Given the description of an element on the screen output the (x, y) to click on. 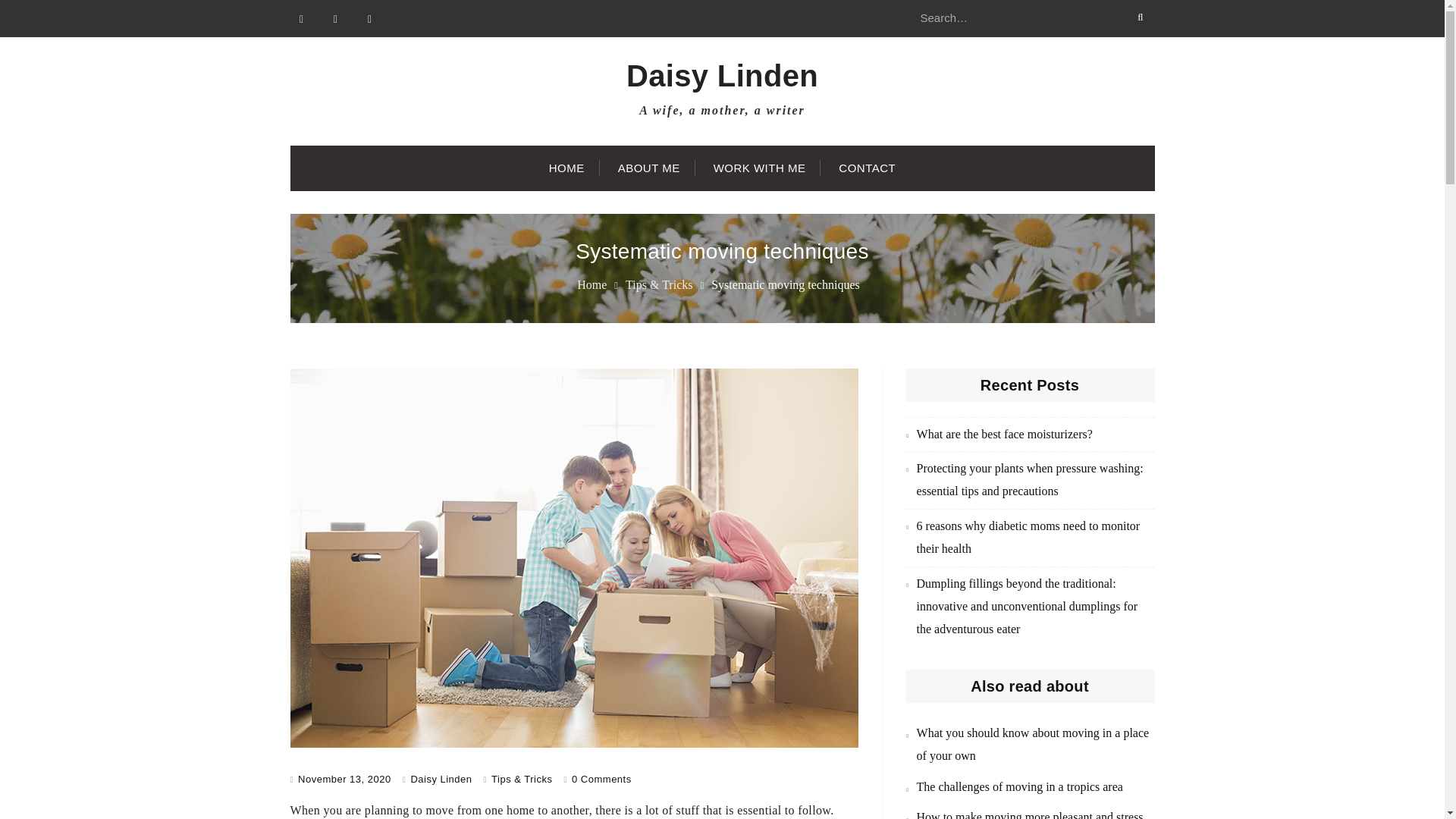
Facebook (301, 18)
Search for: (1029, 18)
0 Comments (601, 778)
Home (591, 284)
ABOUT ME (648, 168)
November 13, 2020 (344, 778)
WORK WITH ME (759, 168)
CONTACT (867, 168)
Daisy Linden (722, 75)
Twitter (335, 18)
Daisy Linden (440, 778)
Instagram (369, 18)
HOME (566, 168)
